Given the description of an element on the screen output the (x, y) to click on. 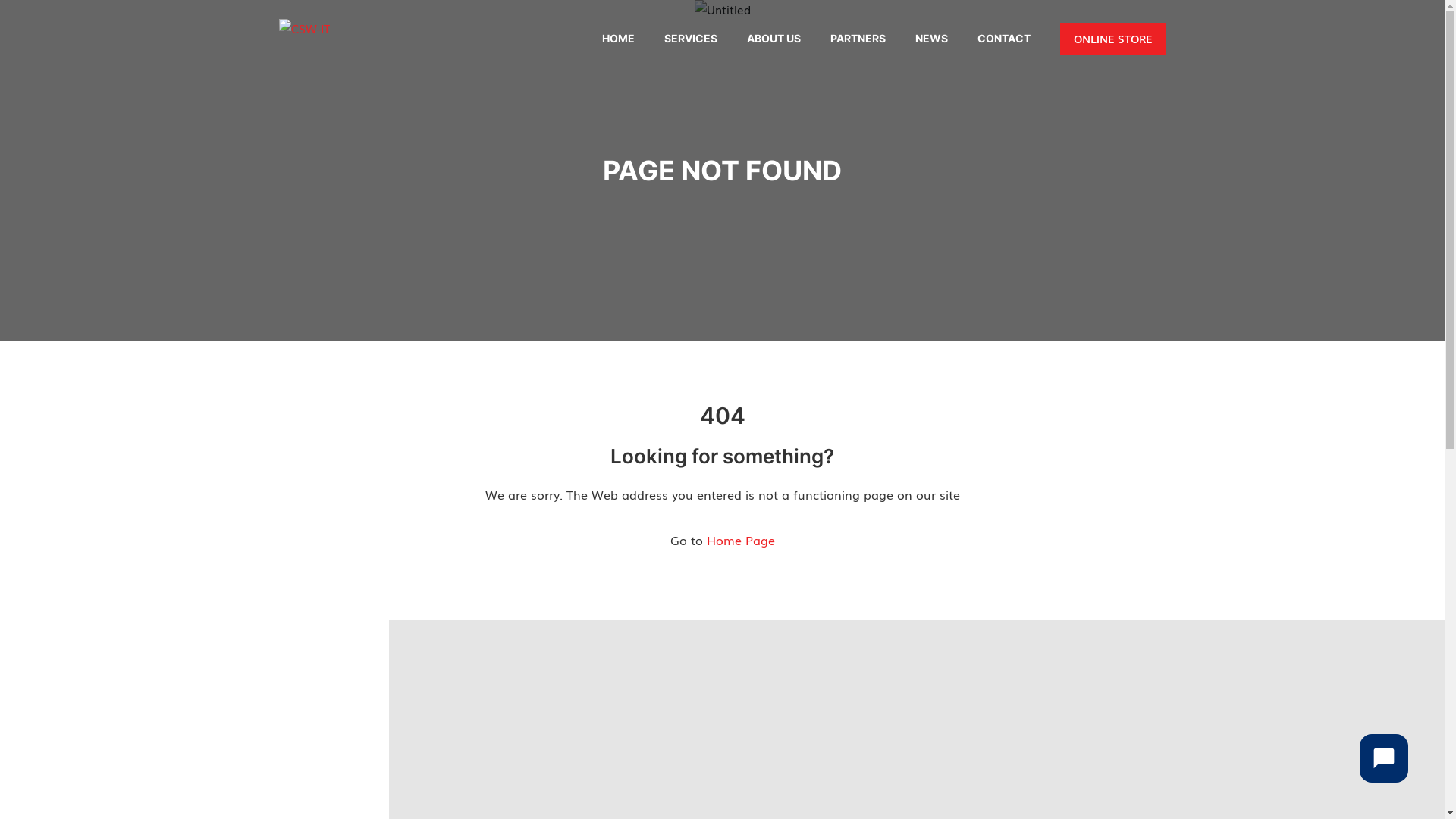
NEWS Element type: text (930, 38)
ABOUT US Element type: text (773, 38)
Chatbot Element type: hover (1383, 757)
HOME Element type: text (618, 38)
CSW-IT Element type: hover (304, 26)
Home Page Element type: text (740, 539)
SERVICES Element type: text (690, 38)
CONTACT Element type: text (1002, 38)
ONLINE STORE Element type: text (1113, 38)
PARTNERS Element type: text (856, 38)
